Given the description of an element on the screen output the (x, y) to click on. 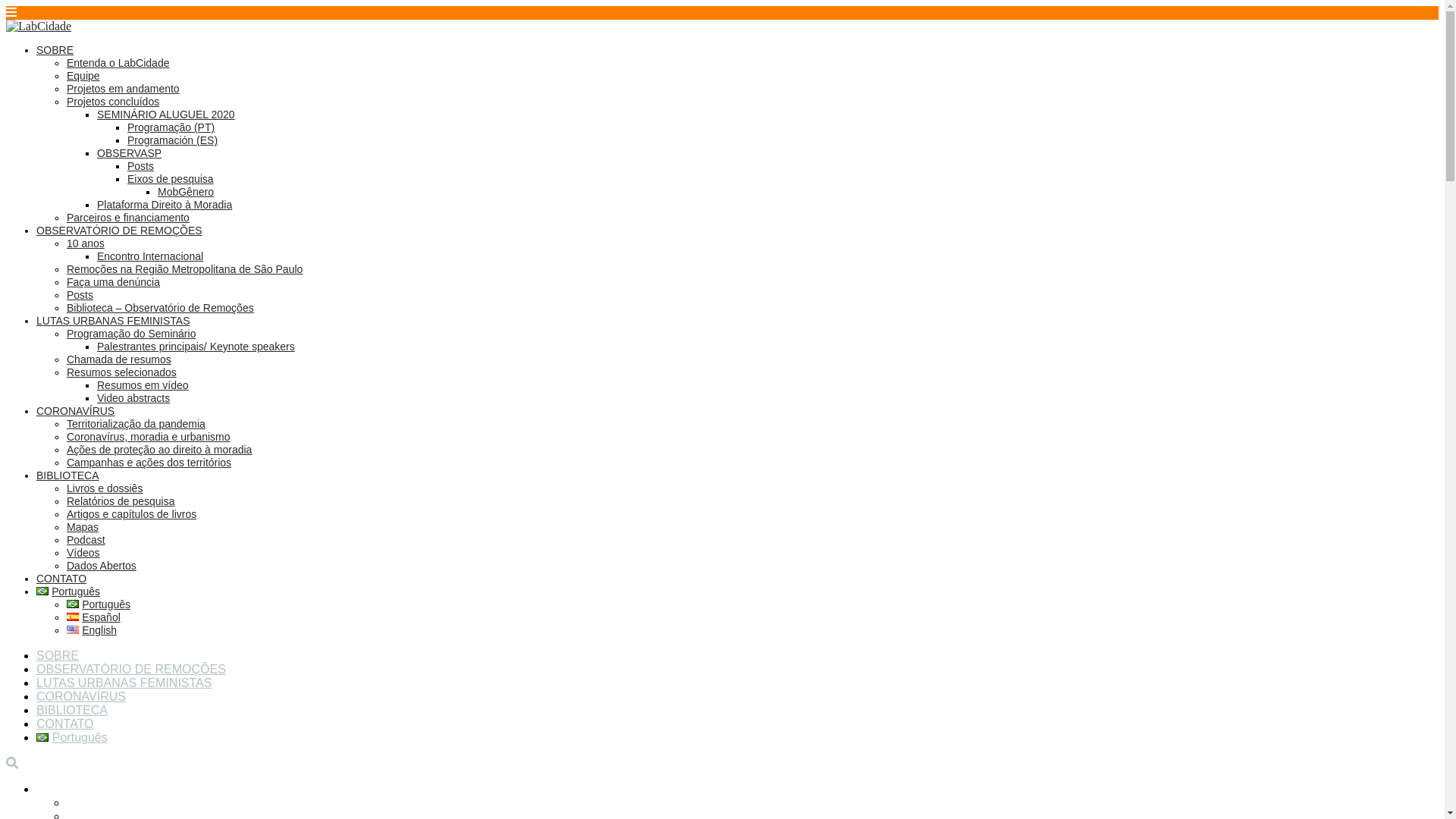
Encontro Internacional Element type: text (150, 256)
OBSERVASP Element type: text (129, 153)
Entenda o LabCidade Element type: text (125, 802)
English Element type: hover (72, 629)
Dados Abertos Element type: text (101, 565)
Posts Element type: text (79, 294)
Parceiros e financiamento Element type: text (127, 217)
LUTAS URBANAS FEMINISTAS Element type: text (113, 320)
SOBRE Element type: text (54, 49)
Entenda o LabCidade Element type: text (117, 62)
Equipe Element type: text (83, 75)
Eixos de pesquisa Element type: text (170, 178)
LUTAS URBANAS FEMINISTAS Element type: text (123, 682)
Video abstracts Element type: text (133, 398)
Podcast Element type: text (85, 539)
CONTATO Element type: text (61, 578)
Posts Element type: text (140, 166)
Chamada de resumos Element type: text (118, 359)
10 anos Element type: text (85, 243)
SOBRE Element type: text (57, 788)
Mapas Element type: text (82, 526)
CONTATO Element type: text (65, 723)
Palestrantes principais/ Keynote speakers Element type: text (195, 346)
English Element type: text (91, 630)
BIBLIOTECA Element type: text (71, 709)
Resumos selecionados Element type: text (121, 372)
Projetos em andamento Element type: text (122, 88)
BIBLIOTECA Element type: text (67, 475)
SOBRE Element type: text (57, 655)
